Given the description of an element on the screen output the (x, y) to click on. 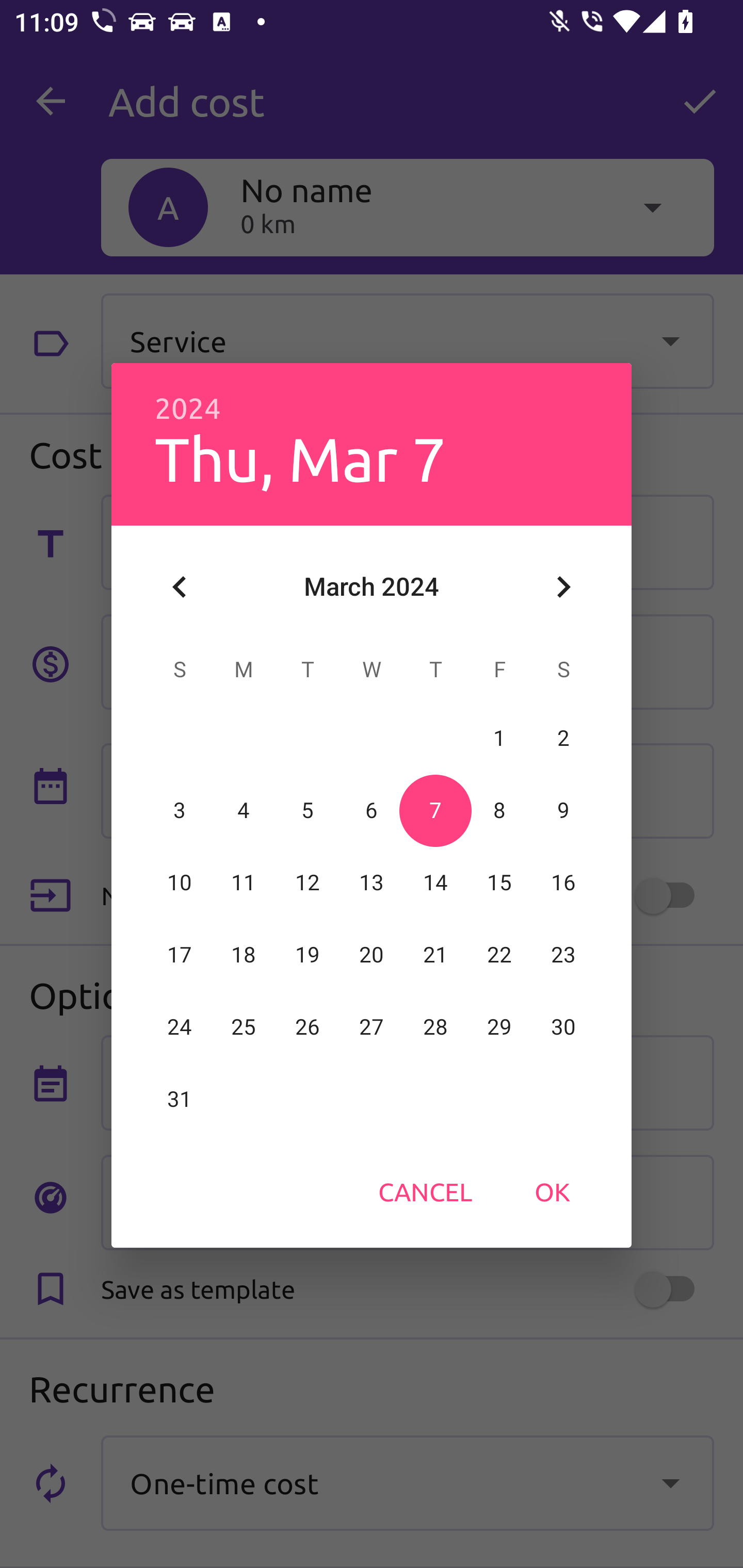
2024 (187, 408)
Thu, Mar 7 (300, 458)
Previous month (178, 587)
Next month (563, 587)
1 01 March 2024 (499, 738)
2 02 March 2024 (563, 738)
3 03 March 2024 (179, 810)
4 04 March 2024 (243, 810)
5 05 March 2024 (307, 810)
6 06 March 2024 (371, 810)
7 07 March 2024 (435, 810)
8 08 March 2024 (499, 810)
9 09 March 2024 (563, 810)
10 10 March 2024 (179, 882)
11 11 March 2024 (243, 882)
12 12 March 2024 (307, 882)
13 13 March 2024 (371, 882)
14 14 March 2024 (435, 882)
15 15 March 2024 (499, 882)
16 16 March 2024 (563, 882)
17 17 March 2024 (179, 954)
18 18 March 2024 (243, 954)
19 19 March 2024 (307, 954)
20 20 March 2024 (371, 954)
21 21 March 2024 (435, 954)
22 22 March 2024 (499, 954)
23 23 March 2024 (563, 954)
24 24 March 2024 (179, 1026)
25 25 March 2024 (243, 1026)
26 26 March 2024 (307, 1026)
27 27 March 2024 (371, 1026)
28 28 March 2024 (435, 1026)
29 29 March 2024 (499, 1026)
30 30 March 2024 (563, 1026)
31 31 March 2024 (179, 1099)
CANCEL (425, 1191)
OK (552, 1191)
